Given the description of an element on the screen output the (x, y) to click on. 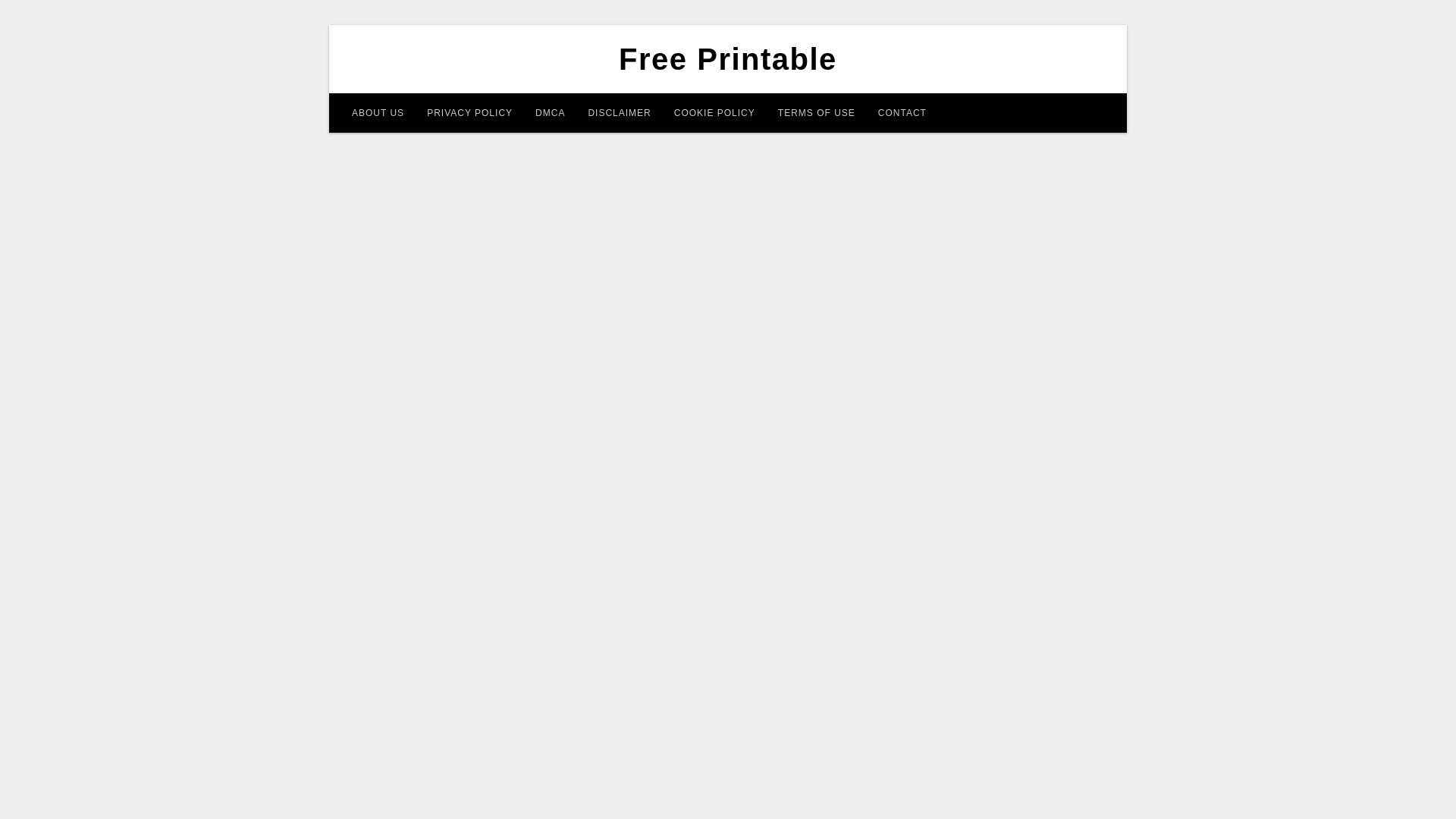
Free Printable (727, 59)
